Given the description of an element on the screen output the (x, y) to click on. 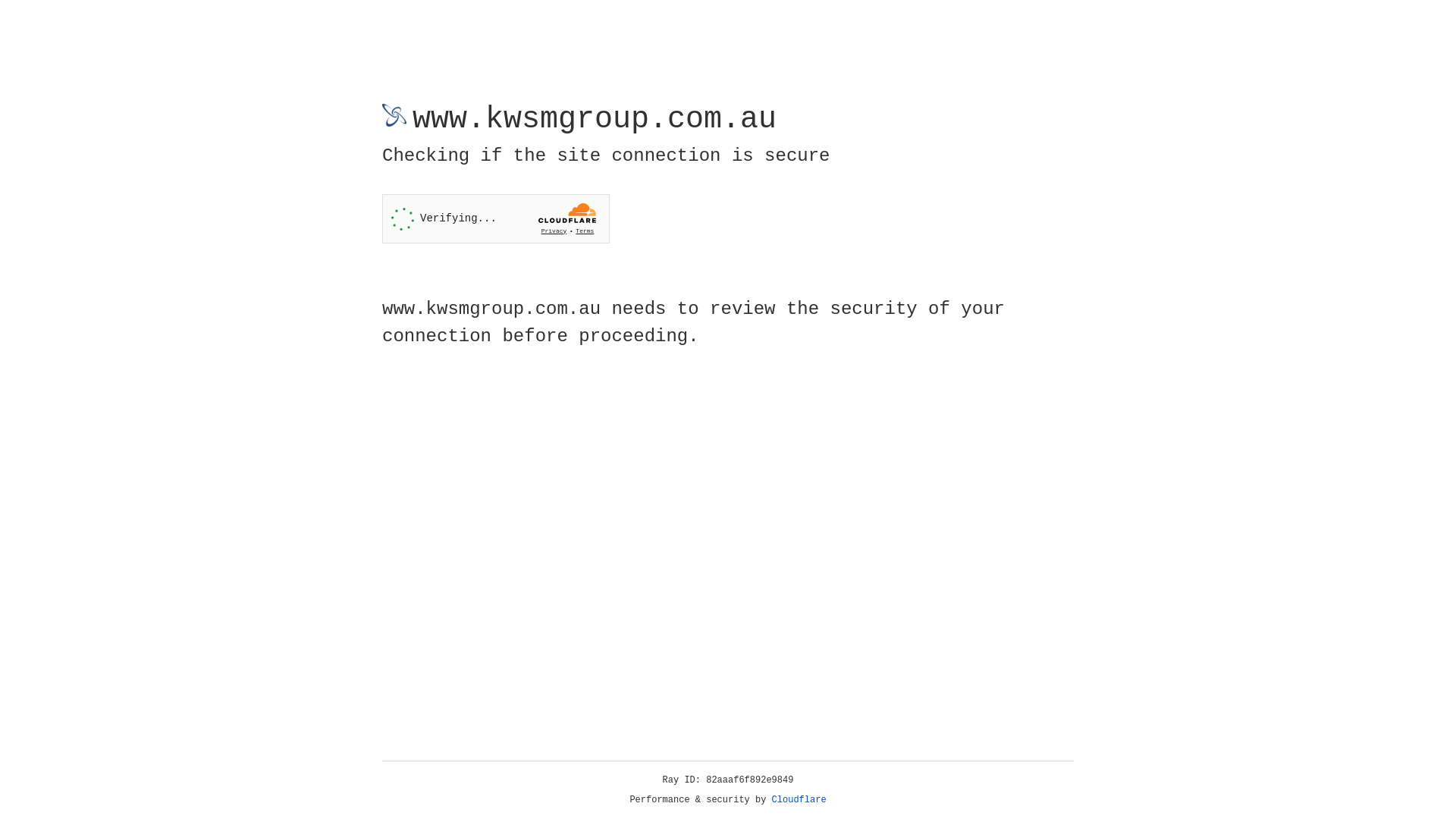
Widget containing a Cloudflare security challenge Element type: hover (495, 218)
Cloudflare Element type: text (798, 799)
